Given the description of an element on the screen output the (x, y) to click on. 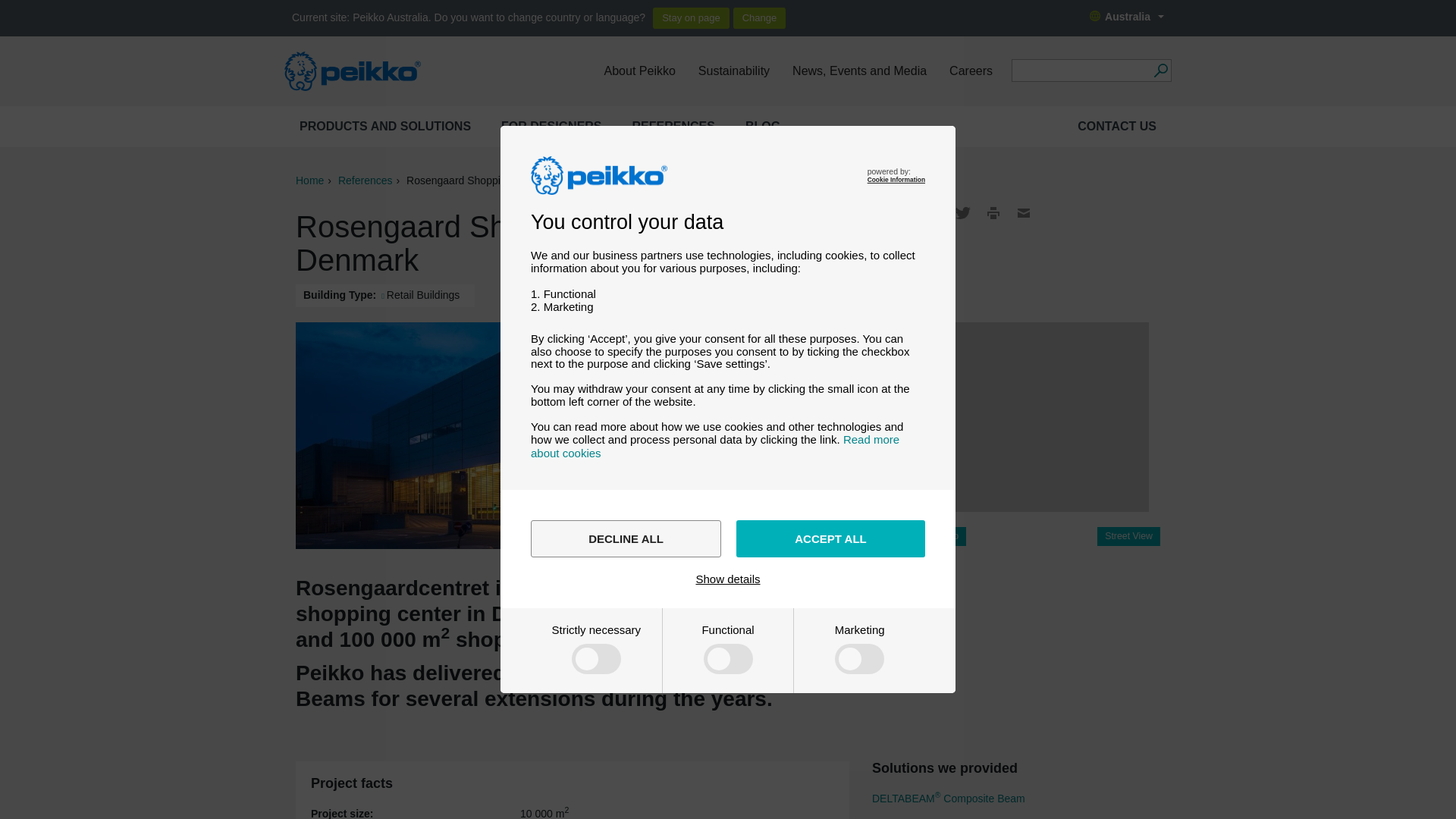
DECLINE ALL (625, 538)
ACCEPT ALL (830, 538)
Australia (1126, 16)
Show details (727, 578)
Email link (1023, 212)
Read more about cookies (715, 446)
Stay on page (690, 17)
Change (759, 17)
Cookie Information (895, 179)
